Given the description of an element on the screen output the (x, y) to click on. 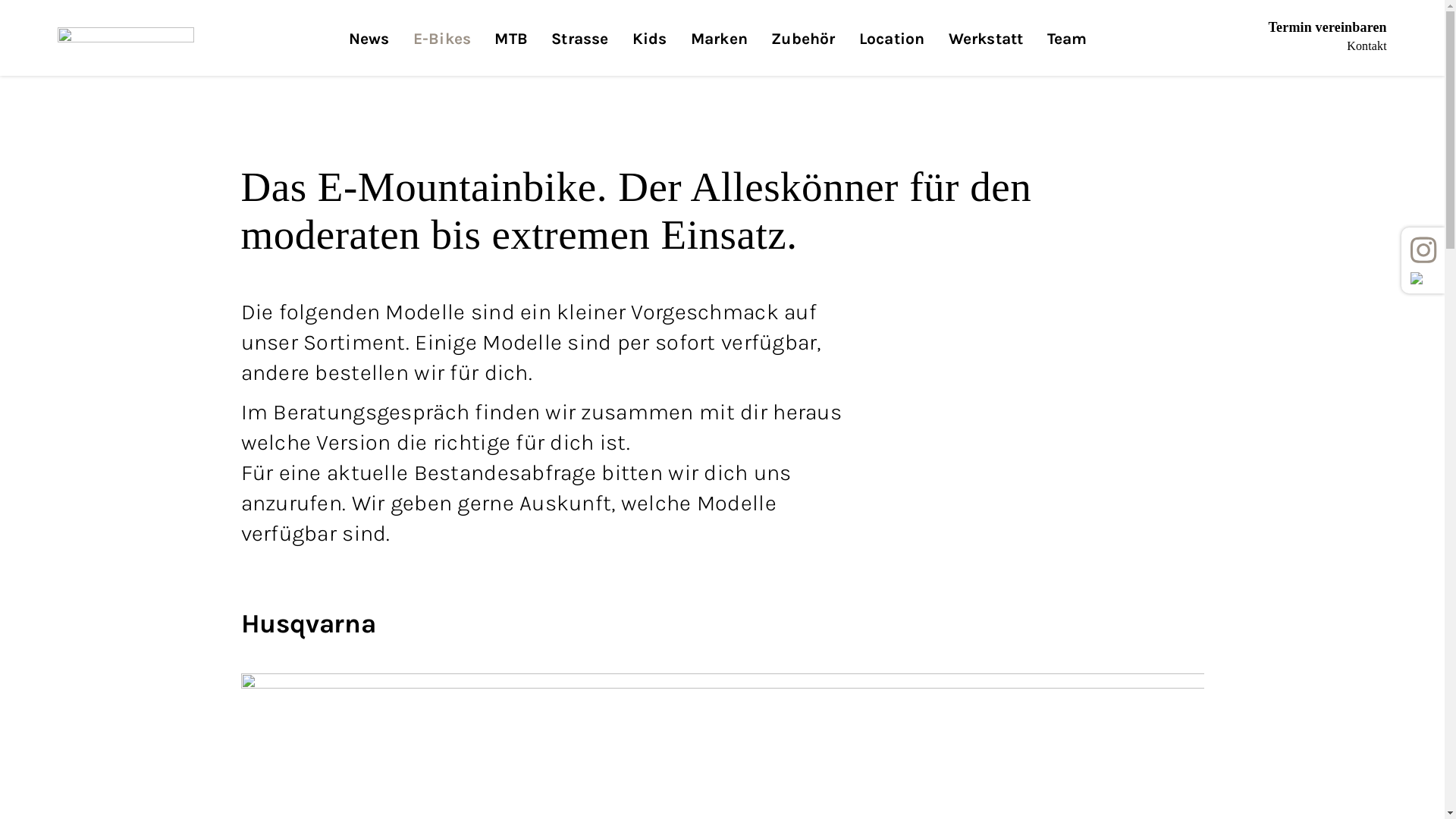
Kontakt Element type: text (1366, 45)
Marken Element type: text (718, 52)
Werkstatt Element type: text (985, 52)
News Element type: text (368, 52)
Location Element type: text (892, 52)
MTB Element type: text (510, 52)
Kids Element type: text (649, 52)
E-Bikes Element type: text (441, 52)
Strasse Element type: text (579, 52)
Termin vereinbaren Element type: text (1327, 27)
Team Element type: text (1067, 52)
